Given the description of an element on the screen output the (x, y) to click on. 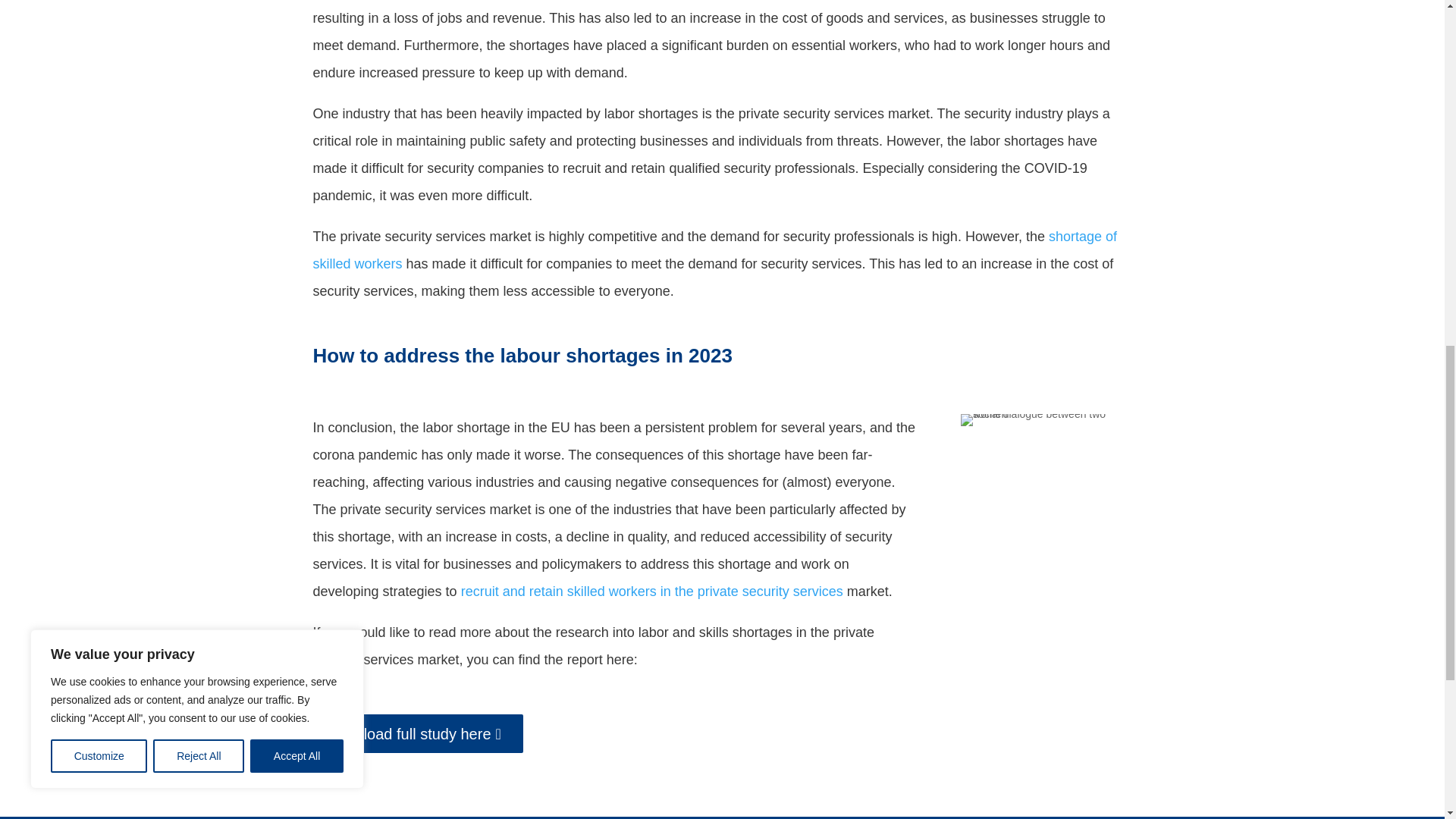
Download full study here (417, 733)
labour-man-planting-plants (1045, 419)
shortage of skilled workers (714, 250)
